Given the description of an element on the screen output the (x, y) to click on. 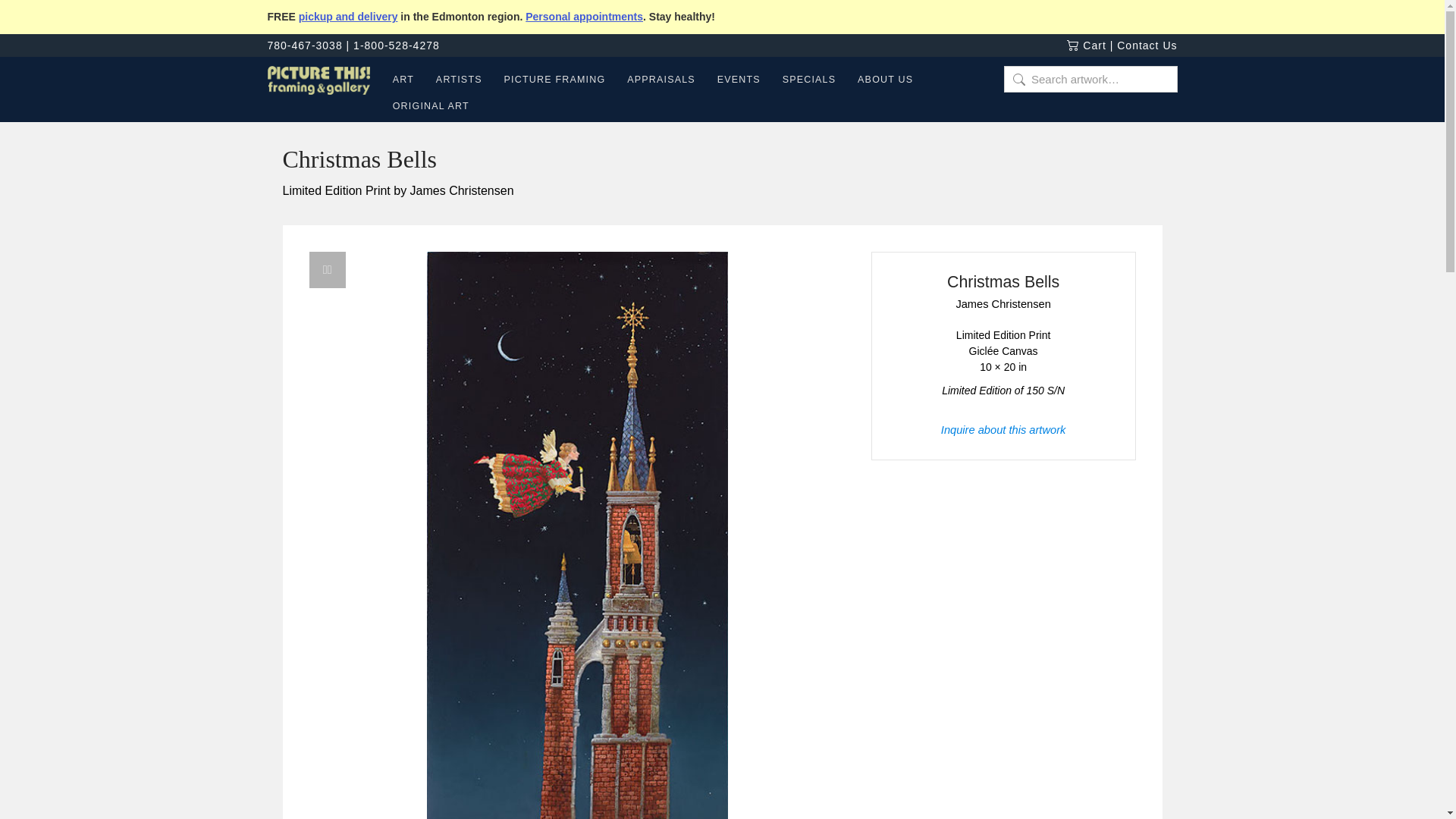
Contact Us (1146, 45)
ART (403, 81)
ORIGINAL ART (424, 108)
ARTISTS (459, 81)
Search (33, 17)
Personal appointments (584, 16)
EVENTS (738, 81)
pickup and delivery (347, 16)
780-467-3038 (304, 45)
PICTURE FRAMING (554, 81)
